Given the description of an element on the screen output the (x, y) to click on. 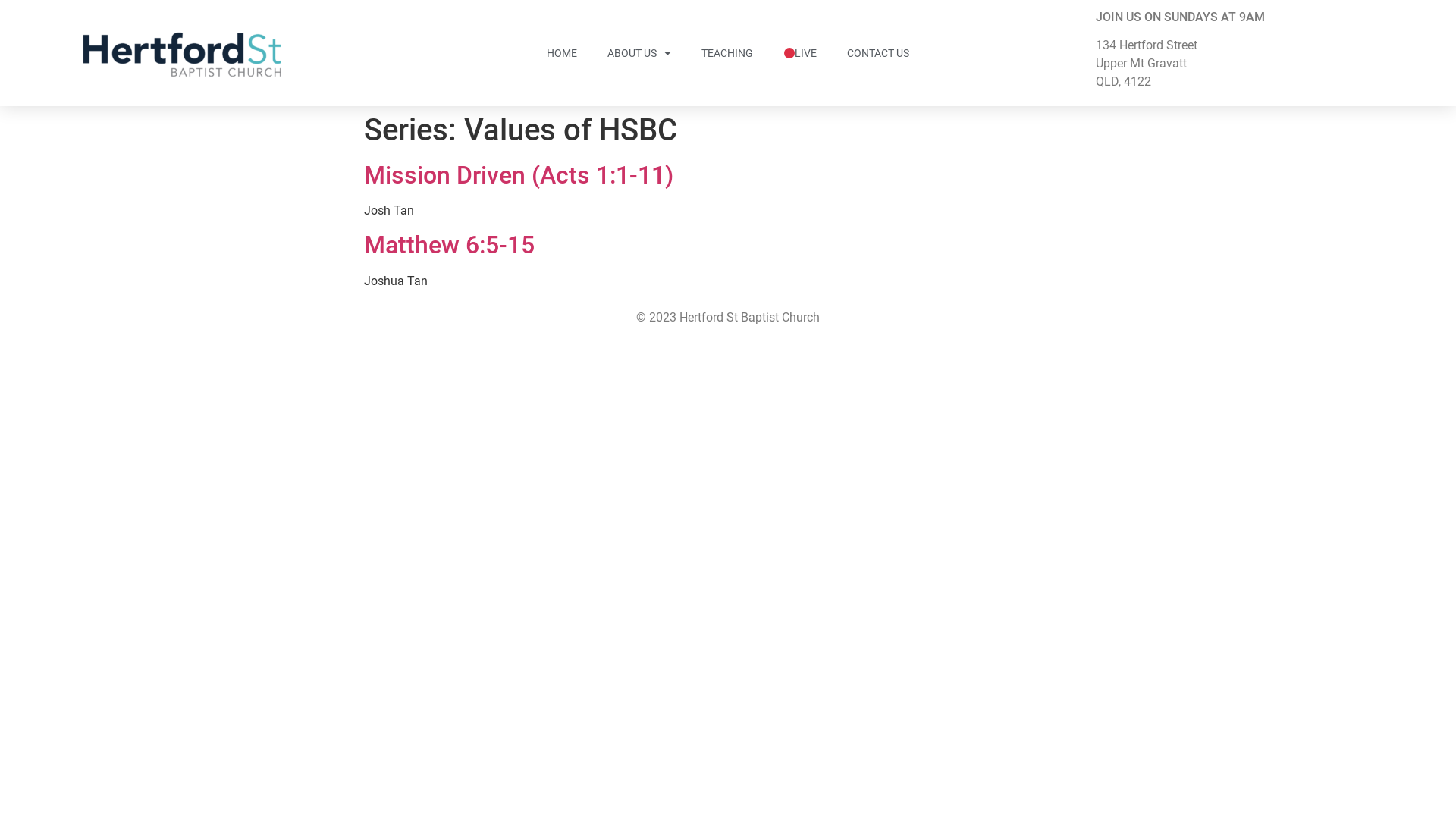
Mission Driven (Acts 1:1-11) Element type: text (518, 174)
Matthew 6:5-15 Element type: text (449, 244)
CONTACT US Element type: text (877, 52)
LIVE Element type: text (800, 52)
HOME Element type: text (561, 52)
TEACHING Element type: text (727, 52)
ABOUT US Element type: text (639, 52)
